Given the description of an element on the screen output the (x, y) to click on. 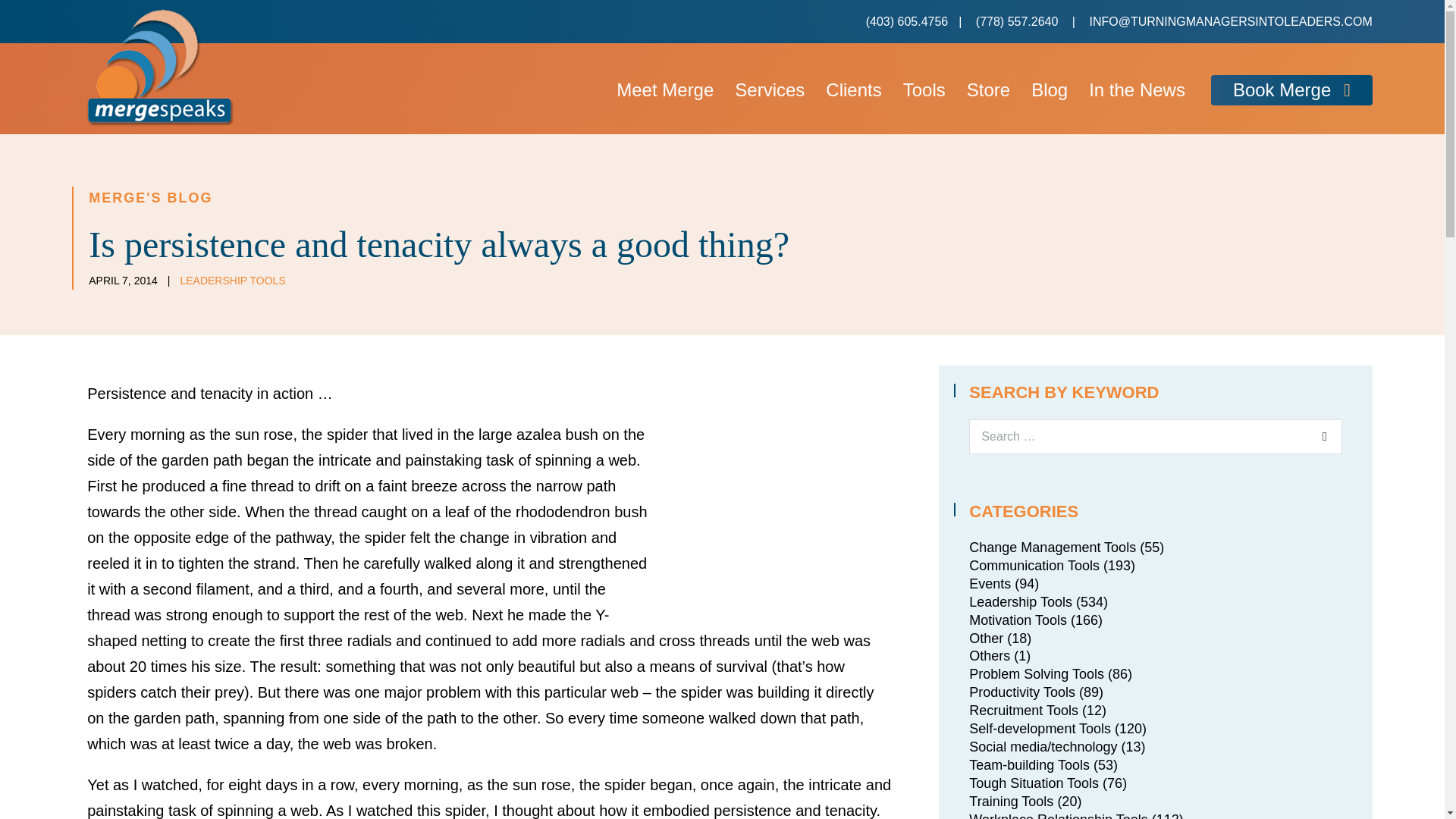
Blog (1049, 90)
Store (988, 90)
In the News (1136, 90)
Press enter to search (1154, 436)
Meet Merge (664, 90)
Services (769, 90)
Book Merge (1292, 90)
Clients (853, 90)
Tools (924, 90)
merge-speaks-logo (160, 67)
